Given the description of an element on the screen output the (x, y) to click on. 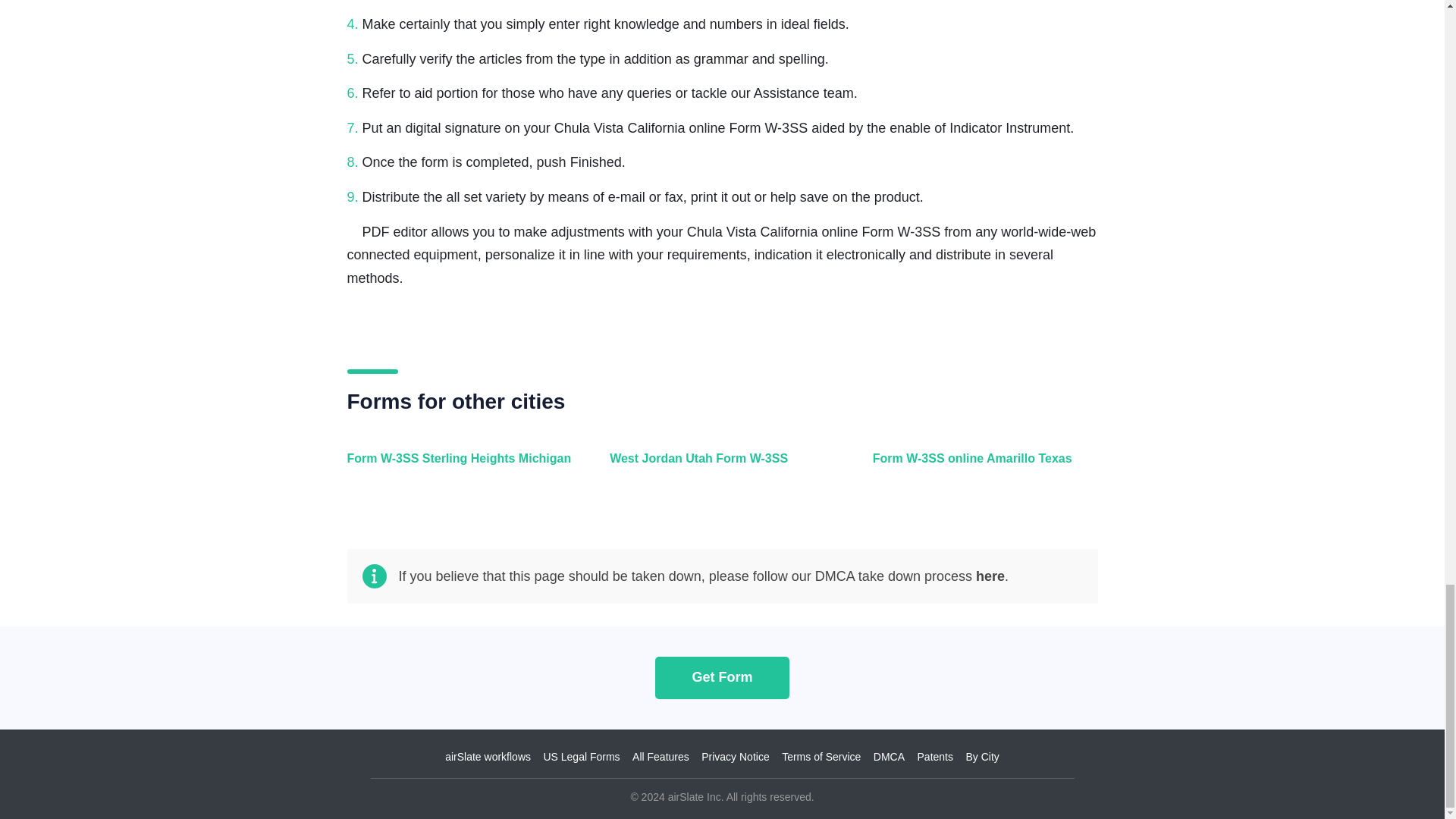
By City (981, 756)
here (989, 575)
Patents (935, 756)
Form W-3SS Sterling Heights Michigan (456, 466)
DMCA (888, 756)
Terms of Service (820, 756)
airSlate workflows (488, 756)
West Jordan Utah Form W-3SS (718, 466)
US Legal Forms (581, 756)
All Features (659, 756)
Get Form (722, 676)
Form W-3SS online Amarillo Texas (981, 466)
Privacy Notice (734, 756)
